Given the description of an element on the screen output the (x, y) to click on. 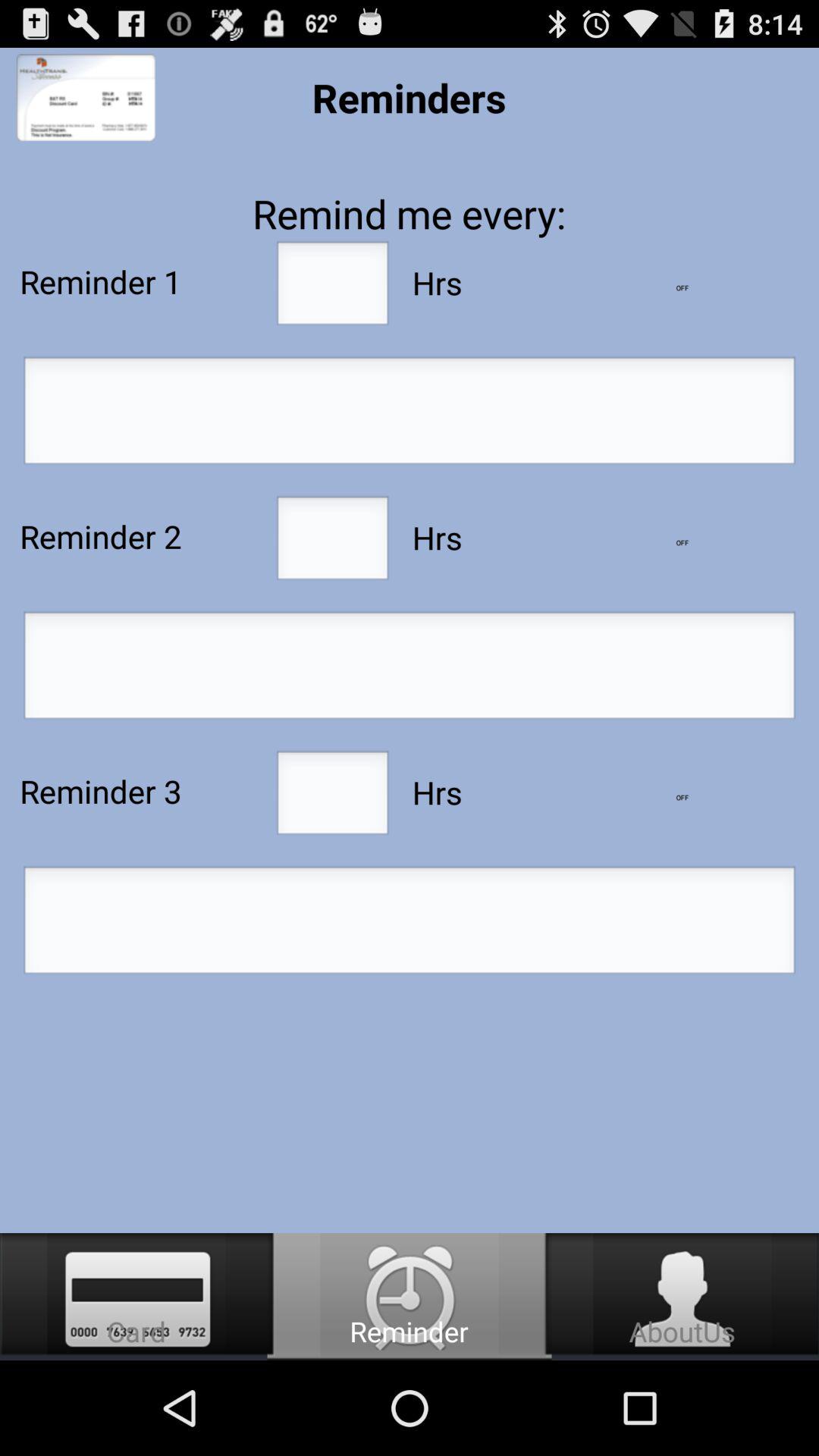
enter description of the reminder (409, 414)
